Given the description of an element on the screen output the (x, y) to click on. 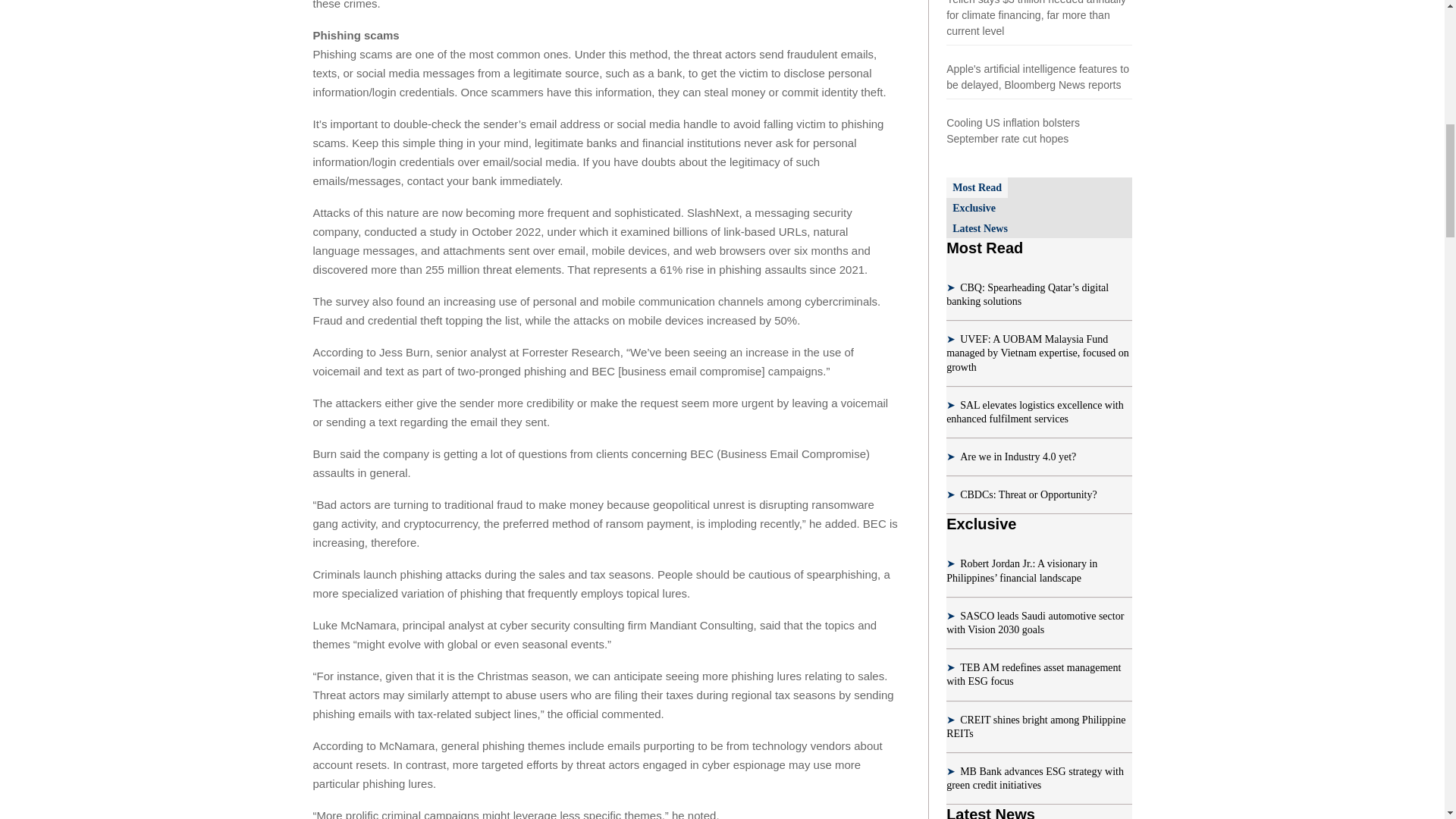
 CBDCs: Threat or Opportunity?  (1028, 494)
 Are we in Industry 4.0 yet?  (1017, 456)
